Given the description of an element on the screen output the (x, y) to click on. 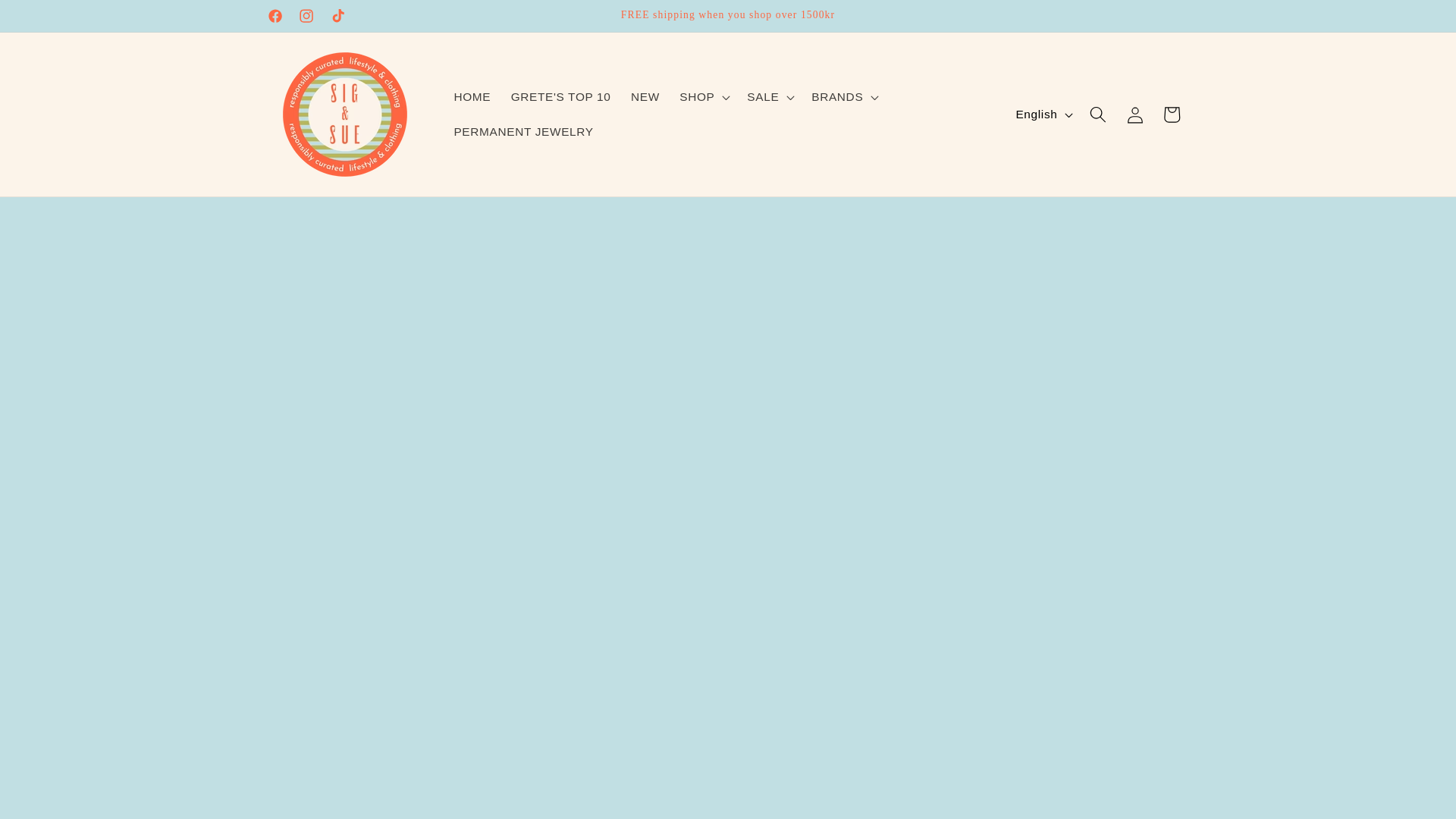
TikTok (337, 15)
Facebook (275, 15)
Instagram (307, 15)
Skip to content (50, 19)
